Given the description of an element on the screen output the (x, y) to click on. 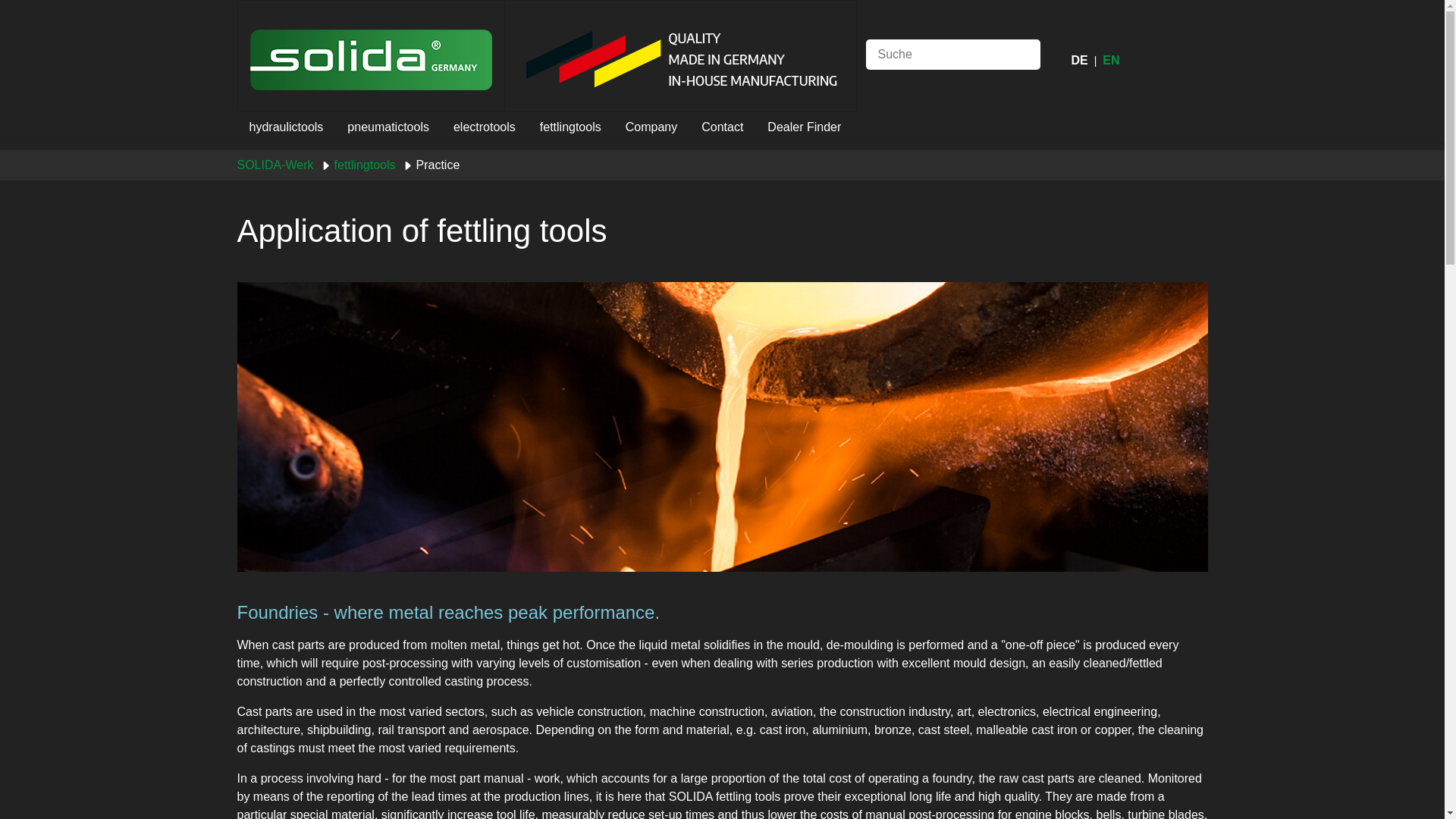
English (1110, 60)
electrotools (484, 127)
pneumatictools (387, 127)
Deutsch (1078, 60)
Company (650, 127)
hydraulictools (284, 127)
Made in Germany (680, 54)
pneumatictools (387, 127)
electrotools (484, 127)
hydraulictools (284, 127)
